Given the description of an element on the screen output the (x, y) to click on. 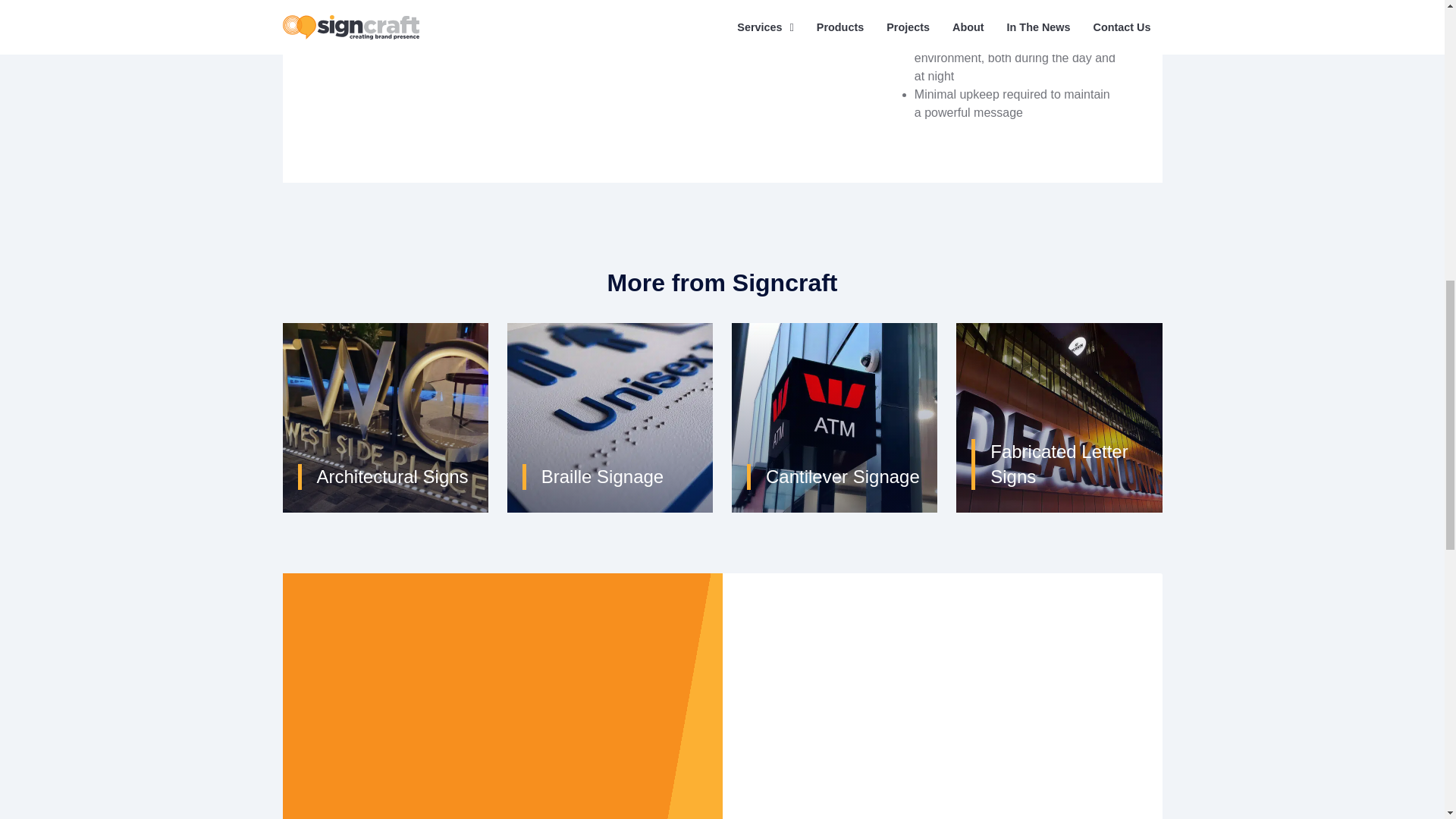
Architectural Signs (384, 417)
Cantilever Signage (834, 417)
Fabricated Letter Signs (1058, 417)
Braille Signage (609, 417)
